Given the description of an element on the screen output the (x, y) to click on. 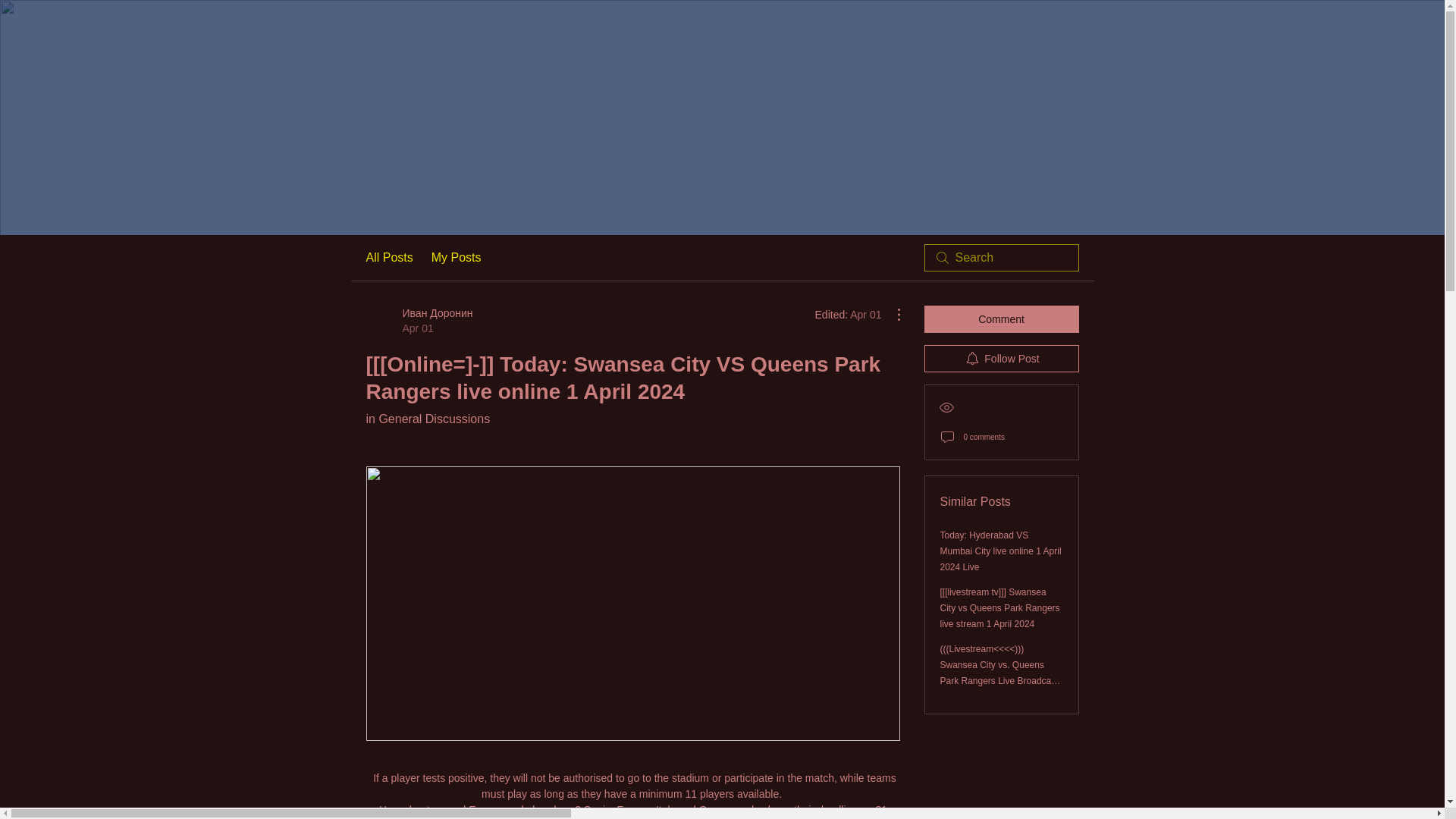
Comment (1000, 318)
My Posts (455, 257)
in General Discussions (427, 418)
All Posts (388, 257)
Follow Post (1000, 358)
